Given the description of an element on the screen output the (x, y) to click on. 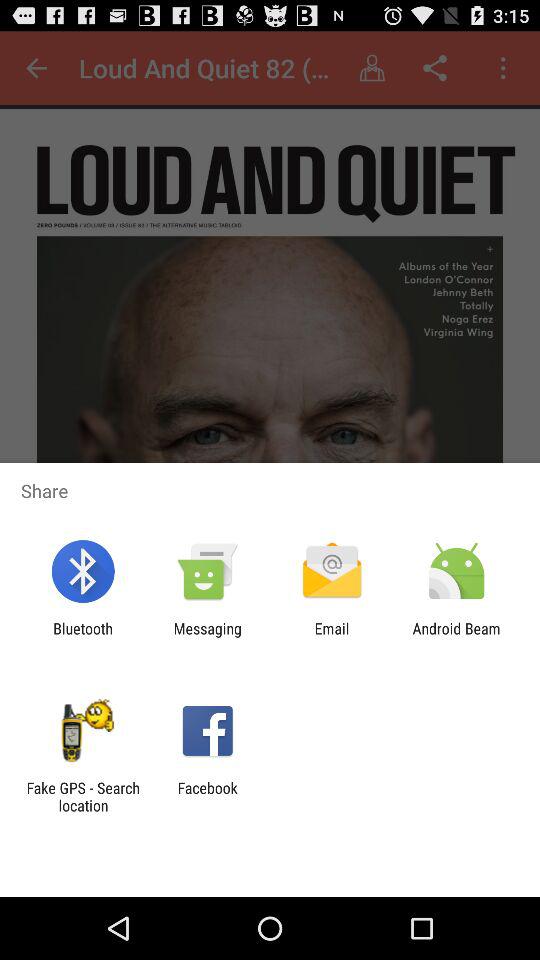
turn on app to the right of the bluetooth app (207, 637)
